Given the description of an element on the screen output the (x, y) to click on. 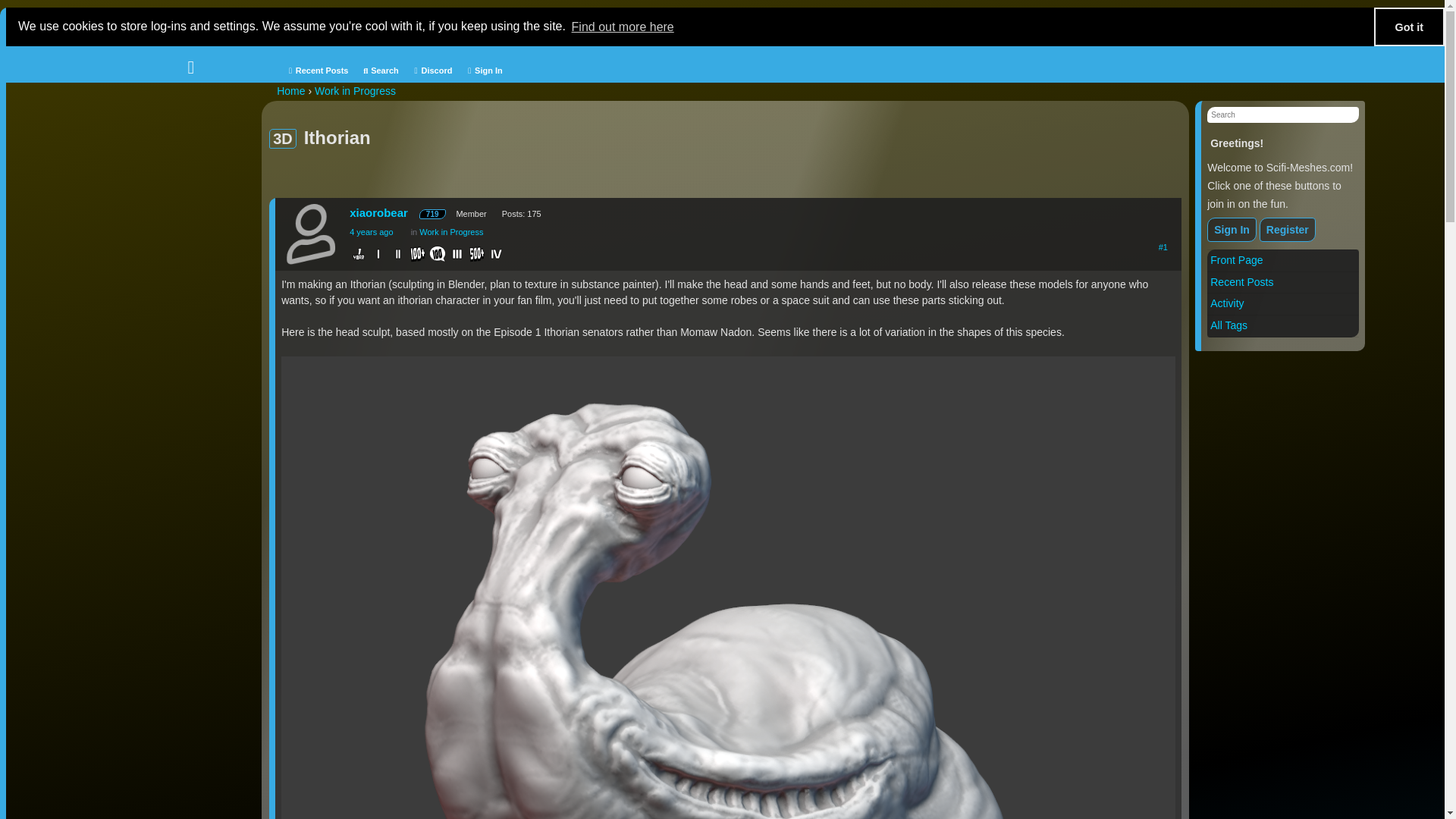
500 Likes (477, 259)
Sign In (483, 70)
Home (290, 91)
Go (5, 6)
All Tags (1228, 325)
November 6, 2020 10:10PM (371, 231)
Work in Progress (355, 91)
Find out more here (623, 26)
100 Likes (418, 259)
Level 2 (398, 259)
First Anniversary (359, 259)
Discord (431, 70)
Level 1 (378, 259)
Level 4 (496, 259)
Recent Posts (1240, 282)
